Given the description of an element on the screen output the (x, y) to click on. 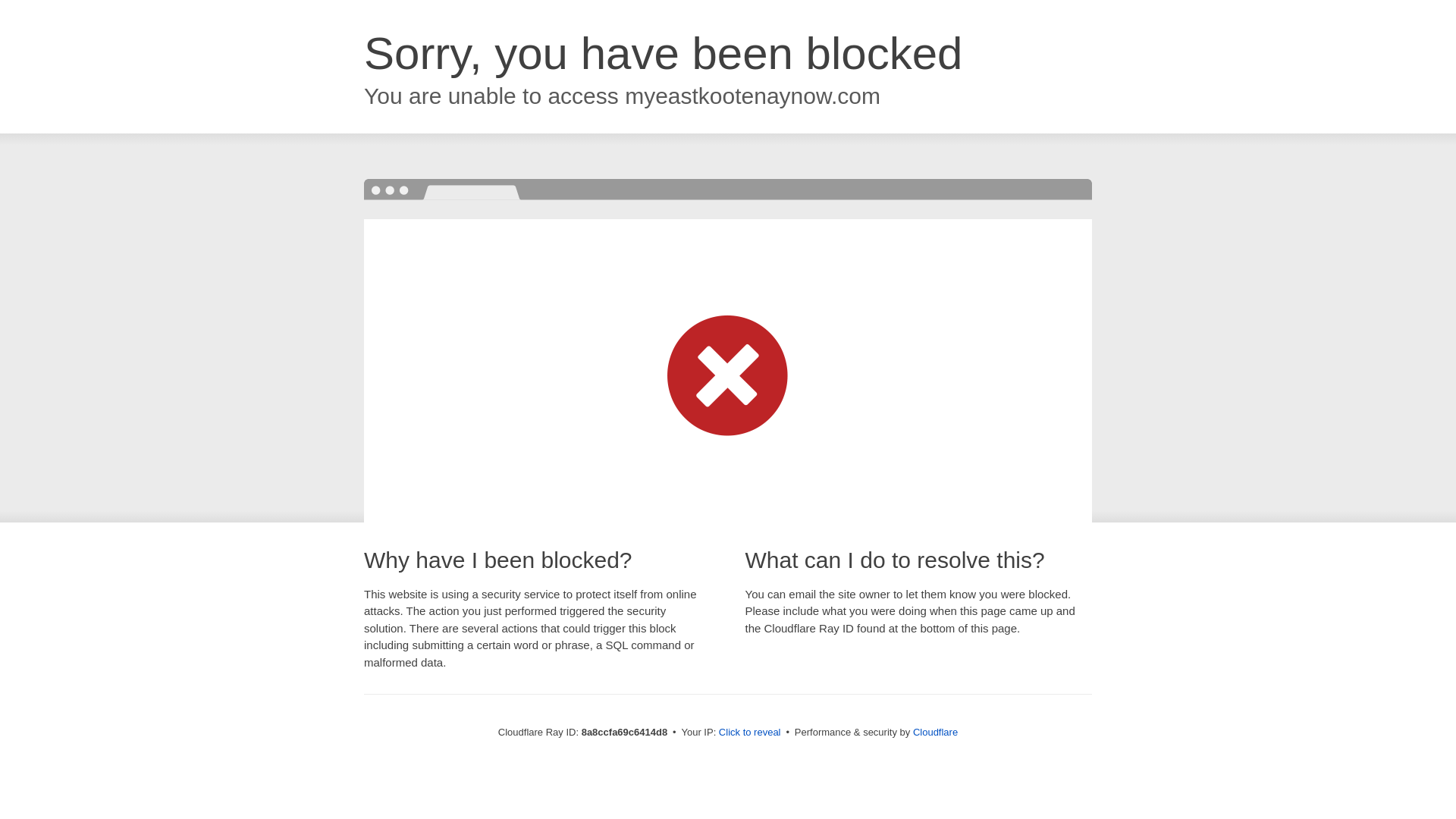
Cloudflare (935, 731)
Click to reveal (749, 732)
